Given the description of an element on the screen output the (x, y) to click on. 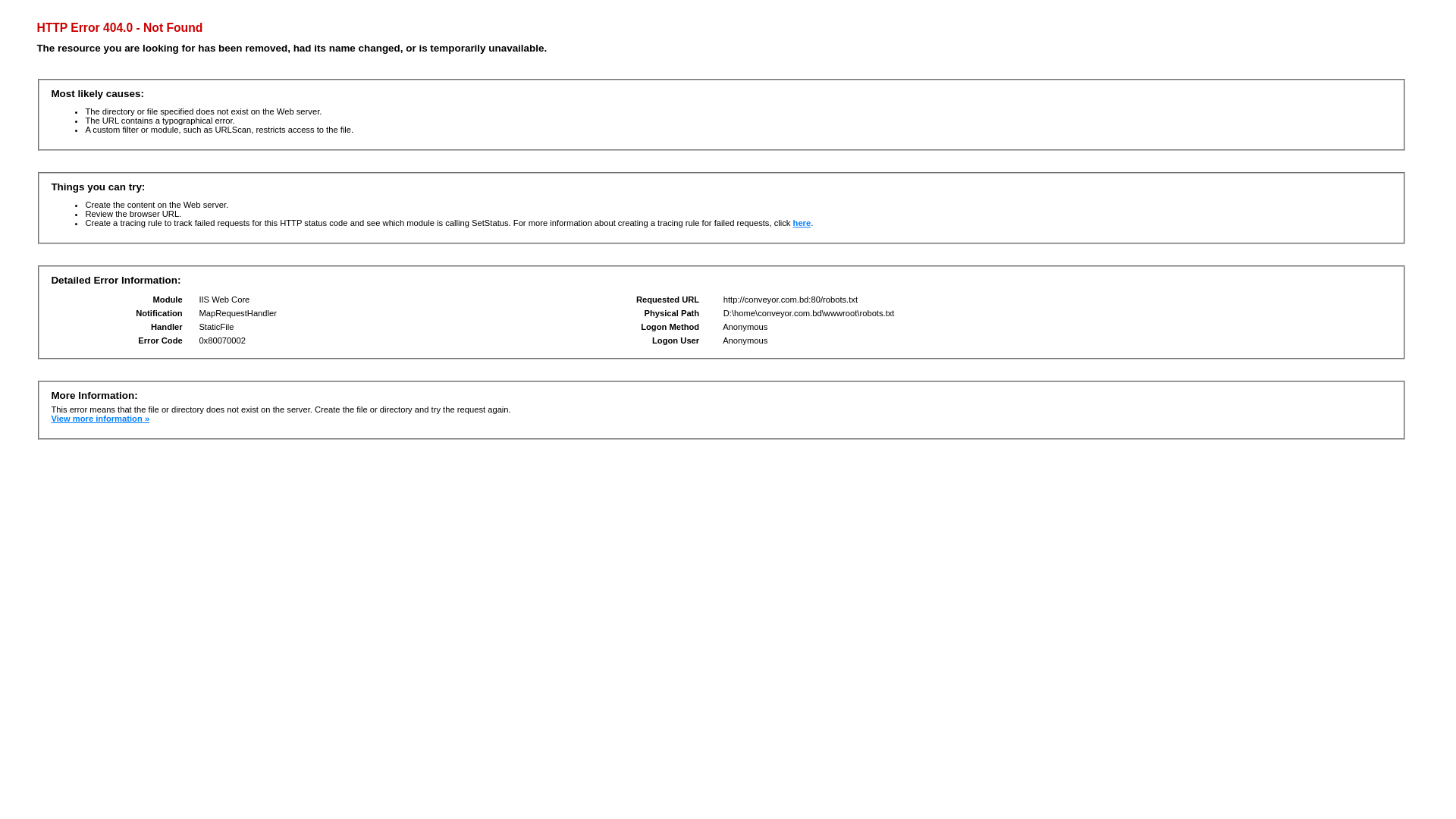
here Element type: text (802, 222)
